Given the description of an element on the screen output the (x, y) to click on. 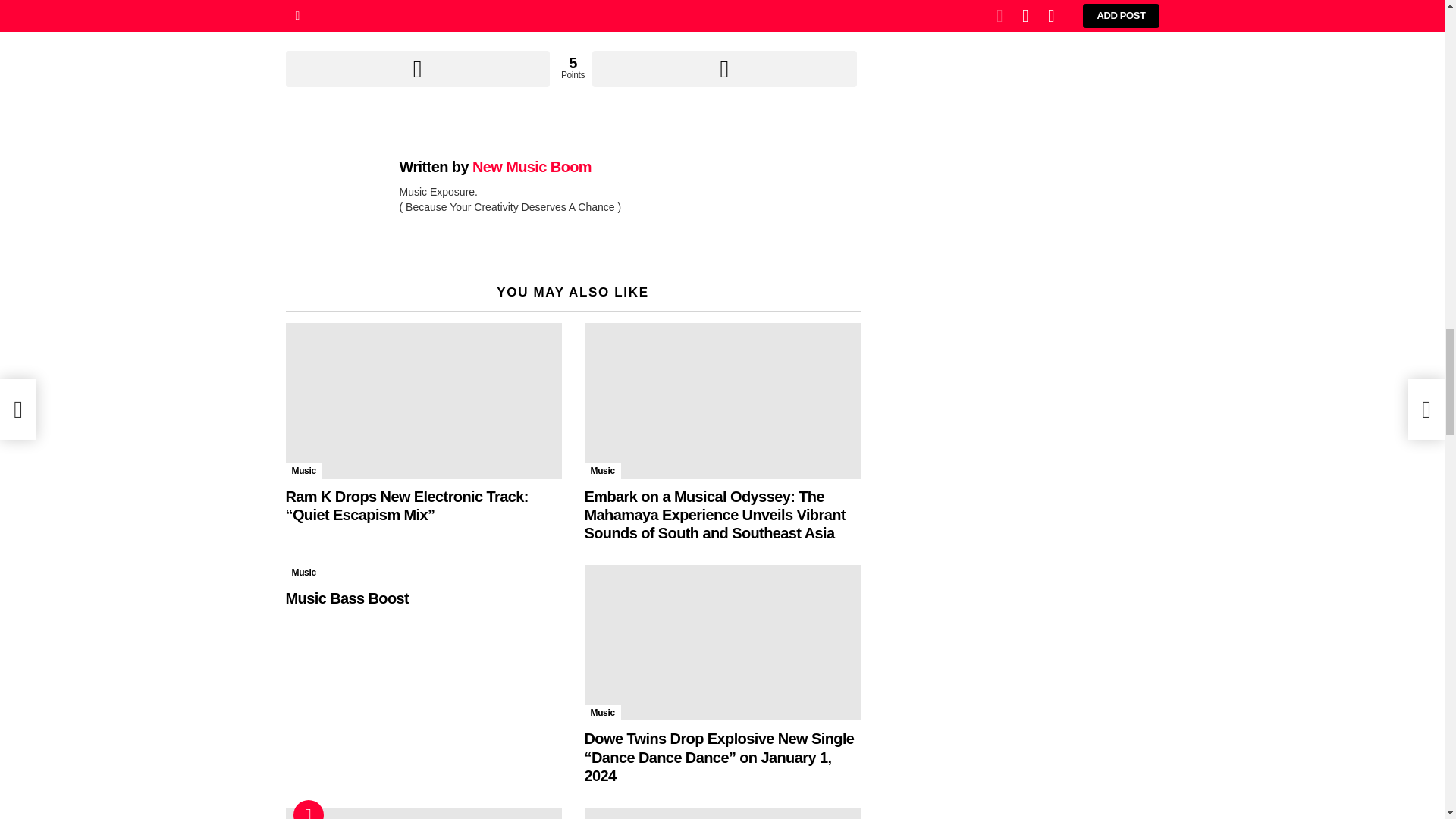
Upvote (416, 68)
Downvote (724, 68)
